Given the description of an element on the screen output the (x, y) to click on. 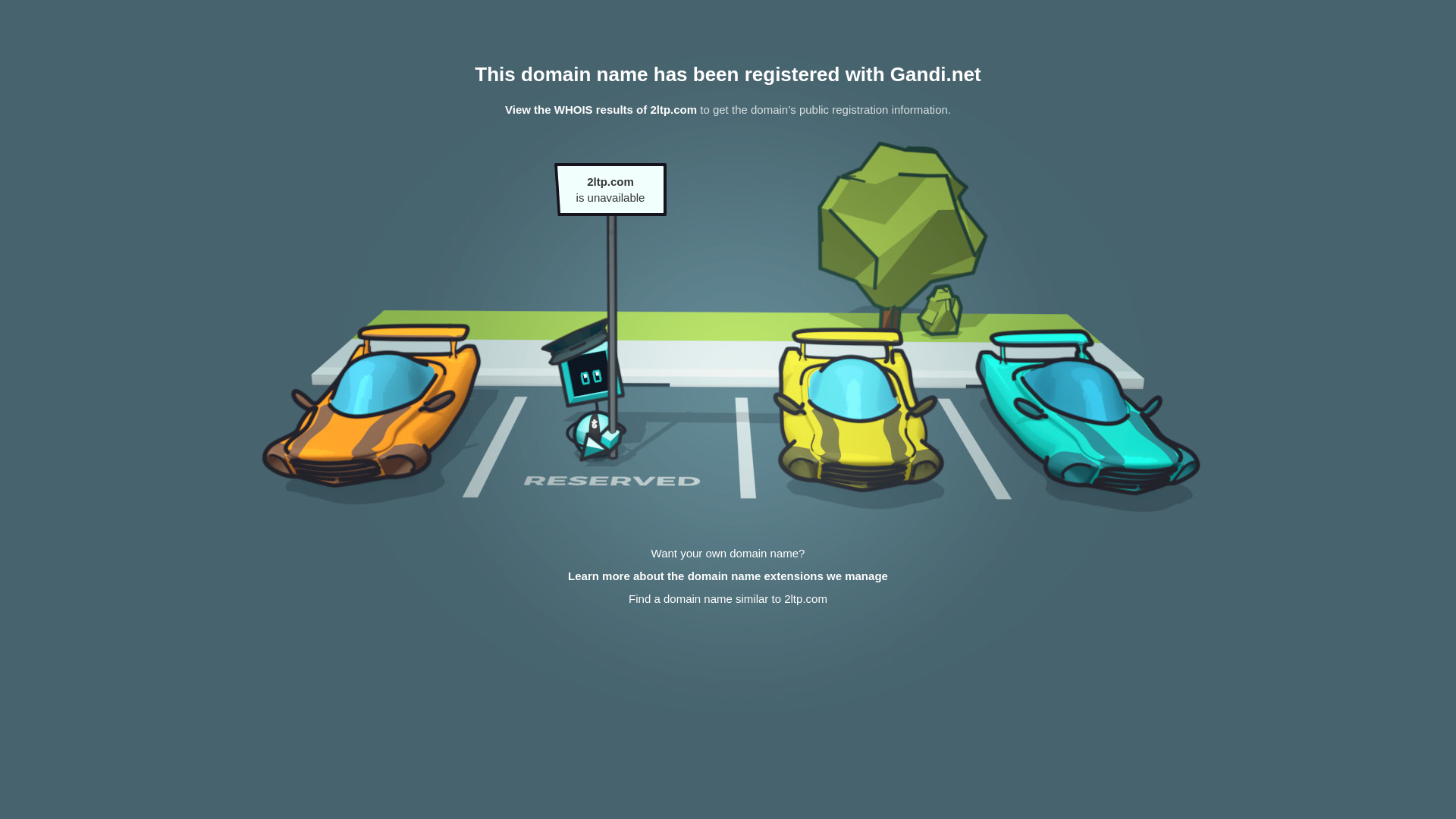
Find a domain name similar to 2ltp.com Element type: text (727, 598)
Learn more about the domain name extensions we manage Element type: text (727, 575)
View the WHOIS results of 2ltp.com Element type: text (600, 109)
